Given the description of an element on the screen output the (x, y) to click on. 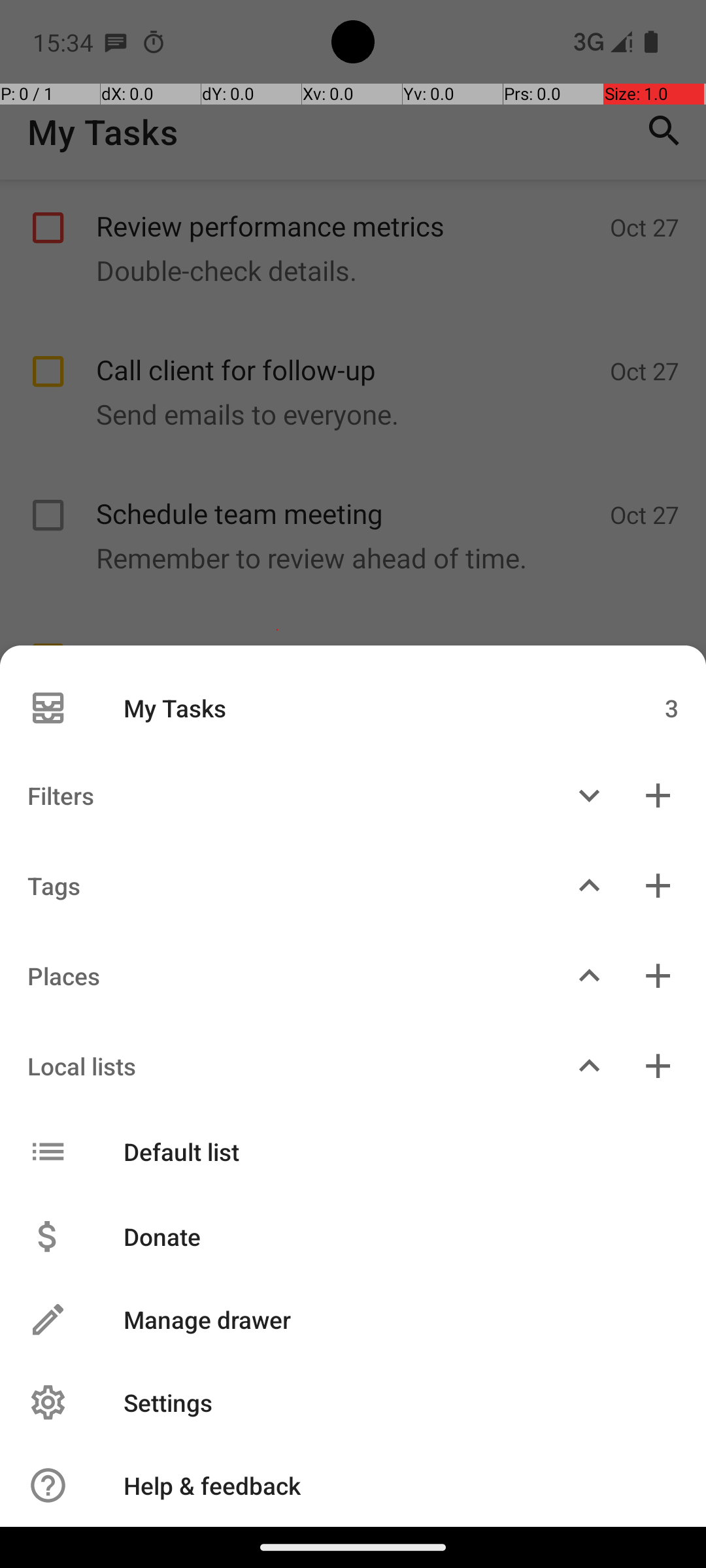
Filters Element type: android.widget.TextView (277, 795)
Places Element type: android.widget.TextView (277, 975)
Manage drawer Element type: android.widget.TextView (387, 1319)
